Given the description of an element on the screen output the (x, y) to click on. 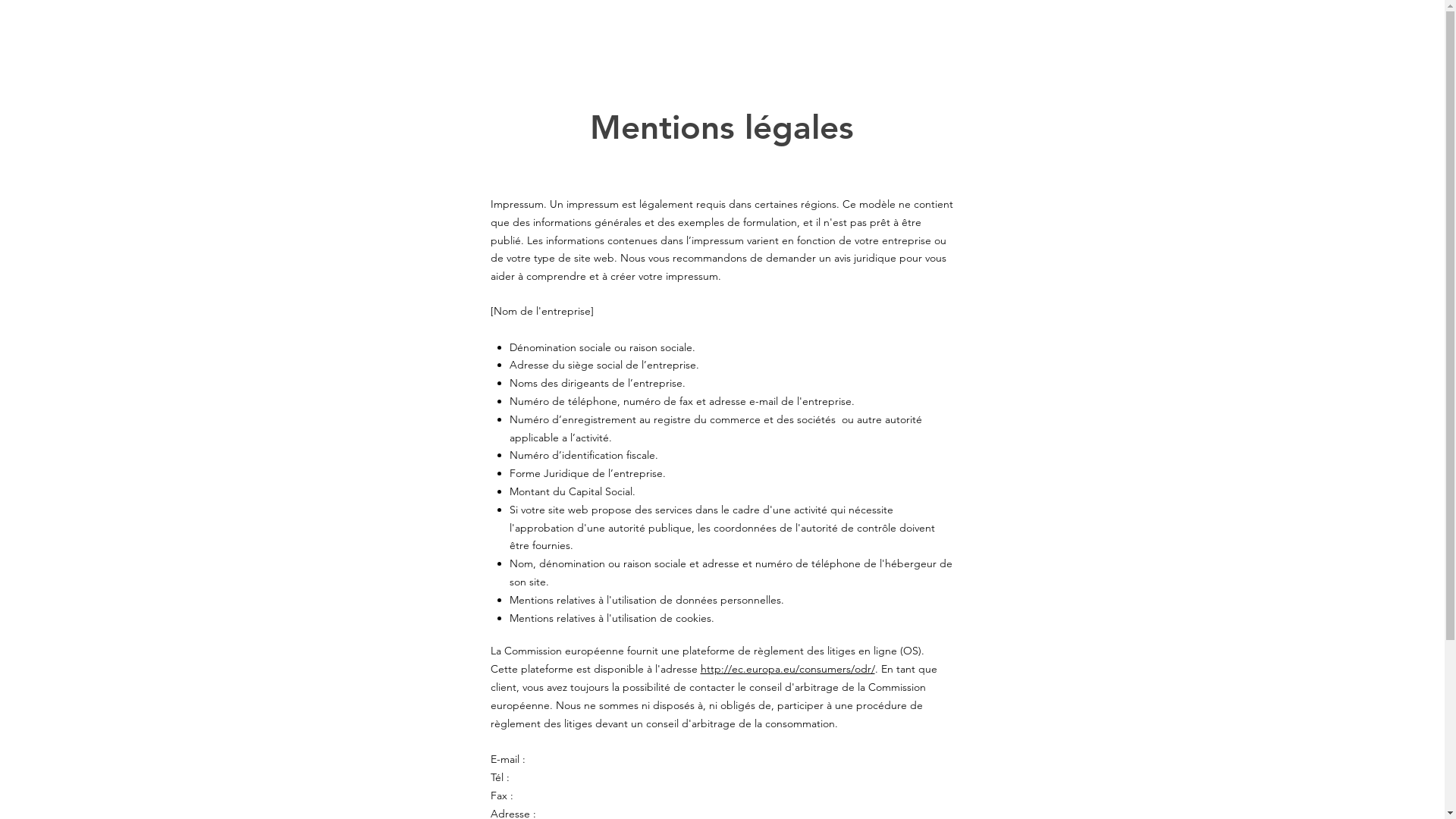
http://ec.europa.eu/consumers/odr/ Element type: text (787, 668)
